Given the description of an element on the screen output the (x, y) to click on. 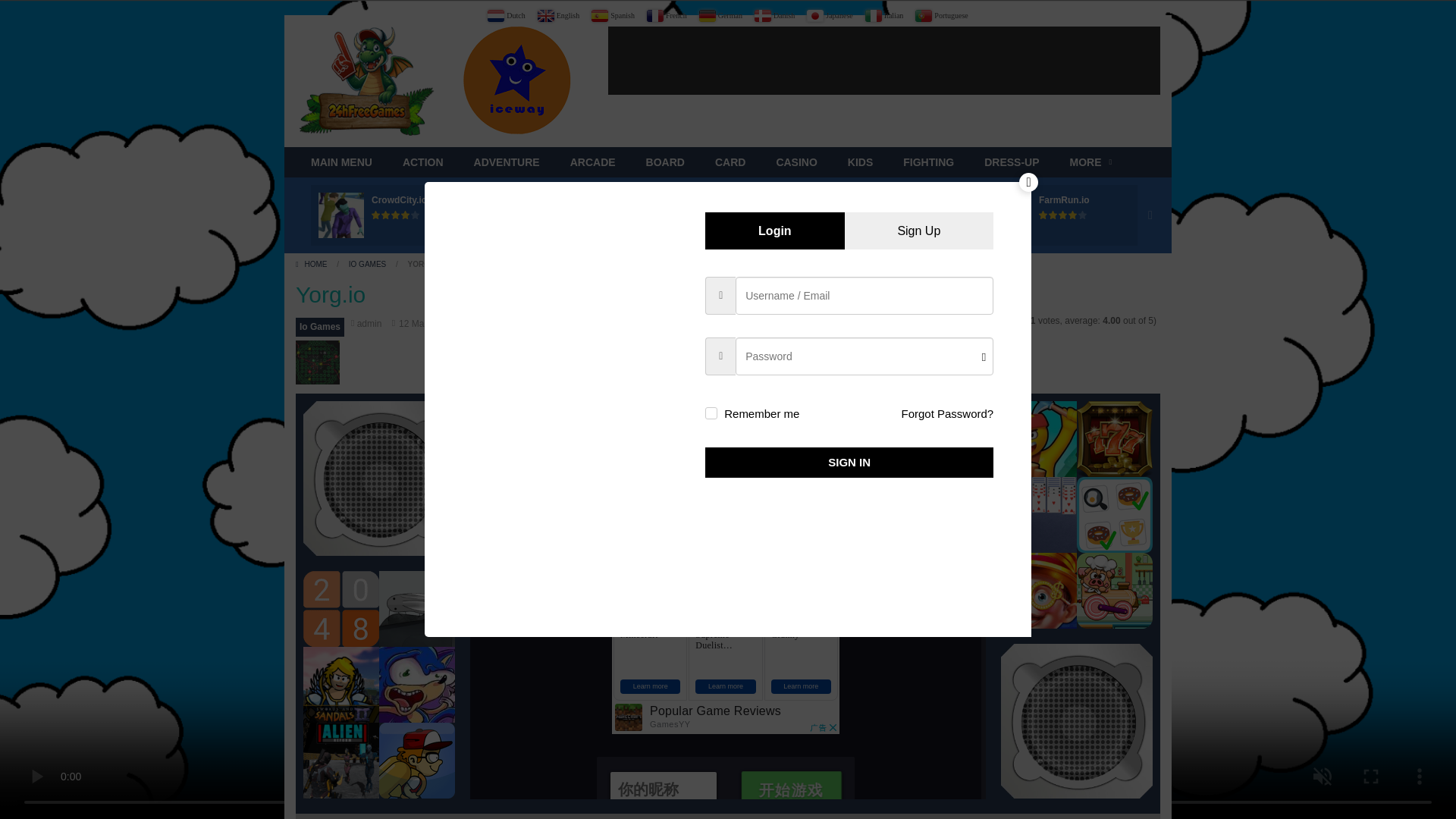
CrowdCity.io (398, 199)
CASINO (795, 162)
KIDS (860, 162)
TetraNoid.io (564, 199)
DRESS-UP (1011, 162)
1 vote, average: 4.00 out of 5 (405, 214)
Danish (774, 15)
Italian (884, 15)
CARD (730, 162)
BOARD (665, 162)
Piaf.io (718, 199)
Japanese (829, 15)
Italian (884, 15)
Japanese (829, 15)
Dutch (506, 15)
